Given the description of an element on the screen output the (x, y) to click on. 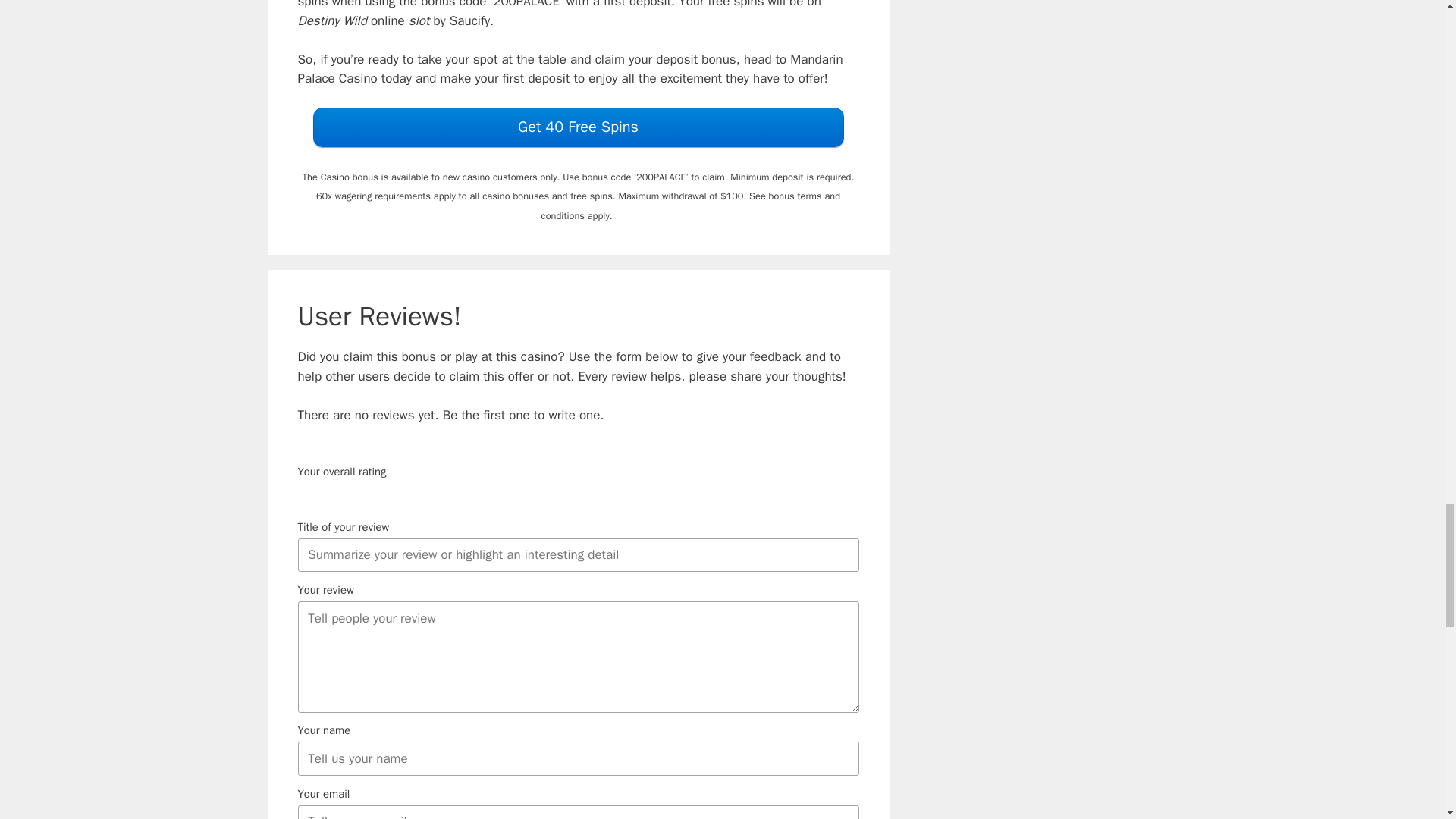
Get 40 Free Spins (578, 127)
